Given the description of an element on the screen output the (x, y) to click on. 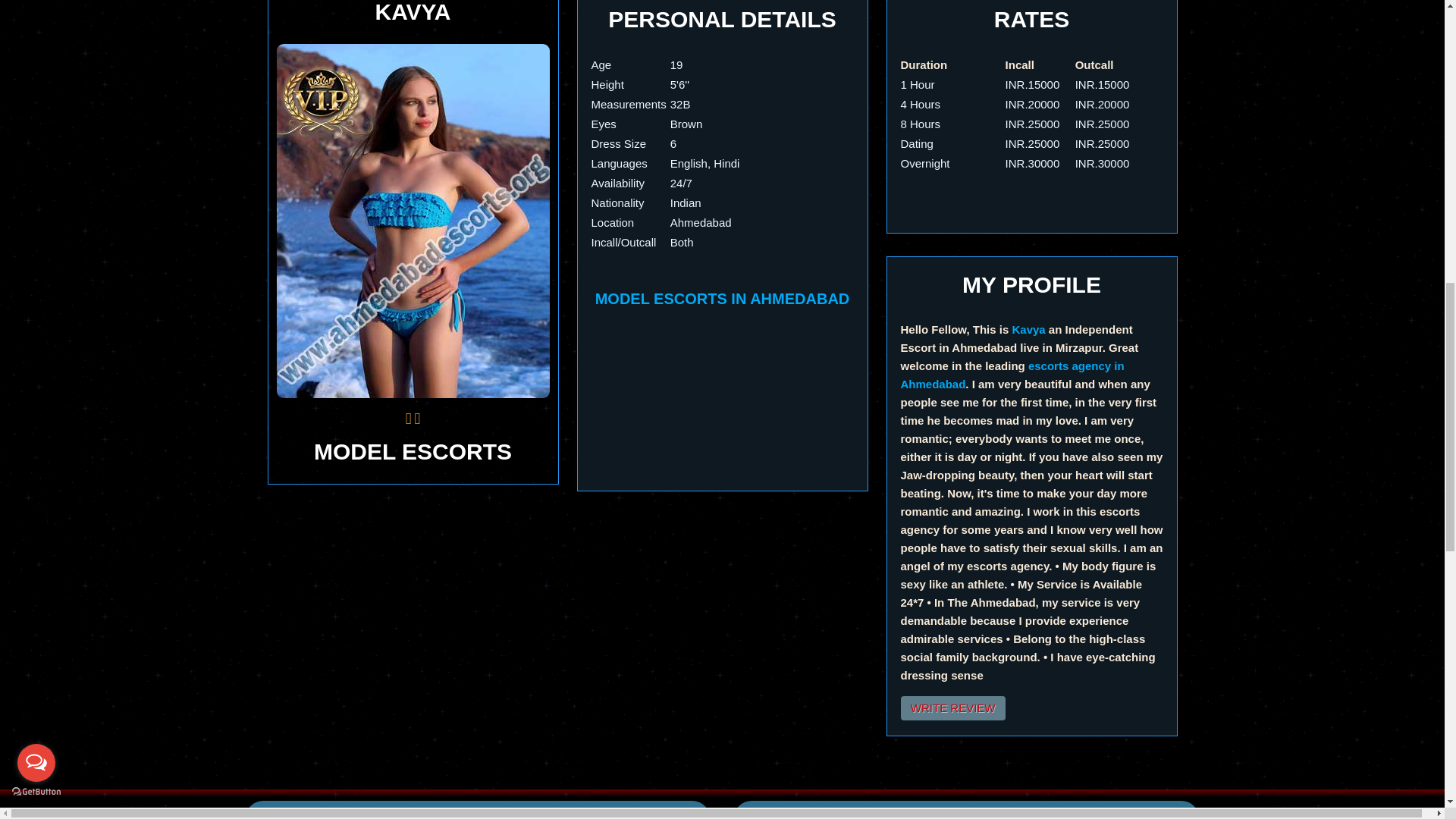
WRITE REVIEW (953, 708)
MODEL ESCORTS IN AHMEDABAD (722, 298)
escorts agency in Ahmedabad (1012, 374)
Kavya (1028, 328)
Model Escorts In Ahmedabad (412, 221)
